Given the description of an element on the screen output the (x, y) to click on. 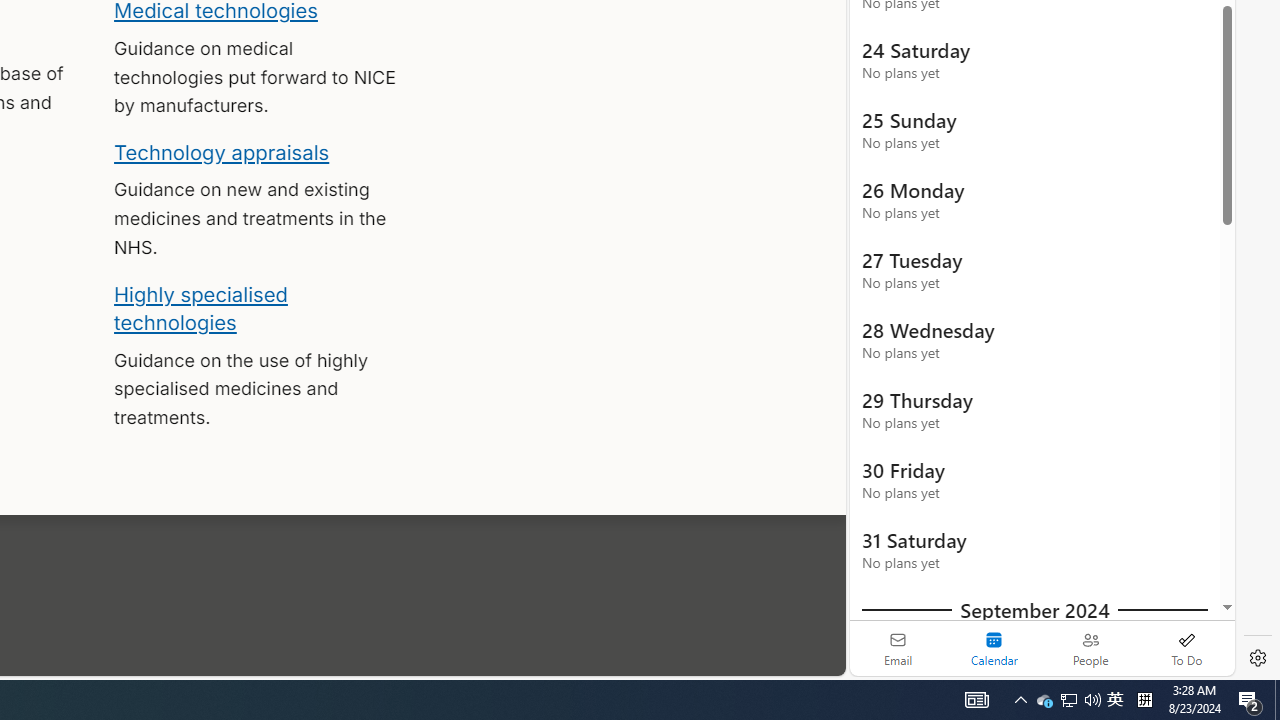
To Do (1186, 648)
Technology appraisals (221, 152)
Selected calendar module. Date today is 22 (994, 648)
People (1090, 648)
Highly specialised technologies (200, 308)
